Given the description of an element on the screen output the (x, y) to click on. 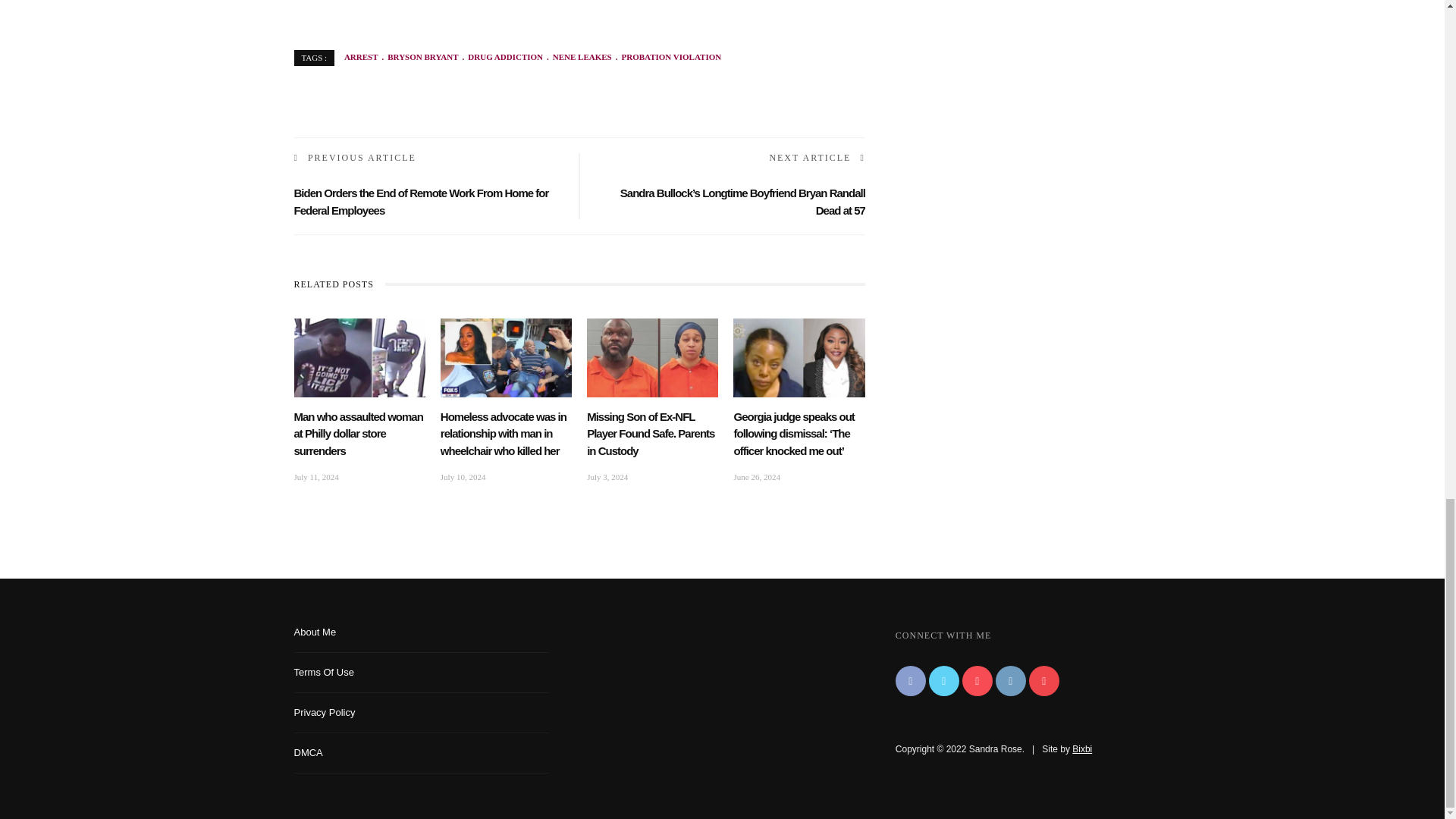
BRYSON BRYANT (418, 56)
Man who assaulted woman at Philly dollar store surrenders (359, 357)
Man who assaulted woman at Philly dollar store surrenders (358, 433)
ARREST (360, 56)
Missing Son of Ex-NFL Player Found Safe. Parents in Custody (650, 433)
Bixbi (1081, 748)
Missing Son of Ex-NFL Player Found Safe. Parents in Custody (651, 357)
DRUG ADDICTION (500, 56)
